Given the description of an element on the screen output the (x, y) to click on. 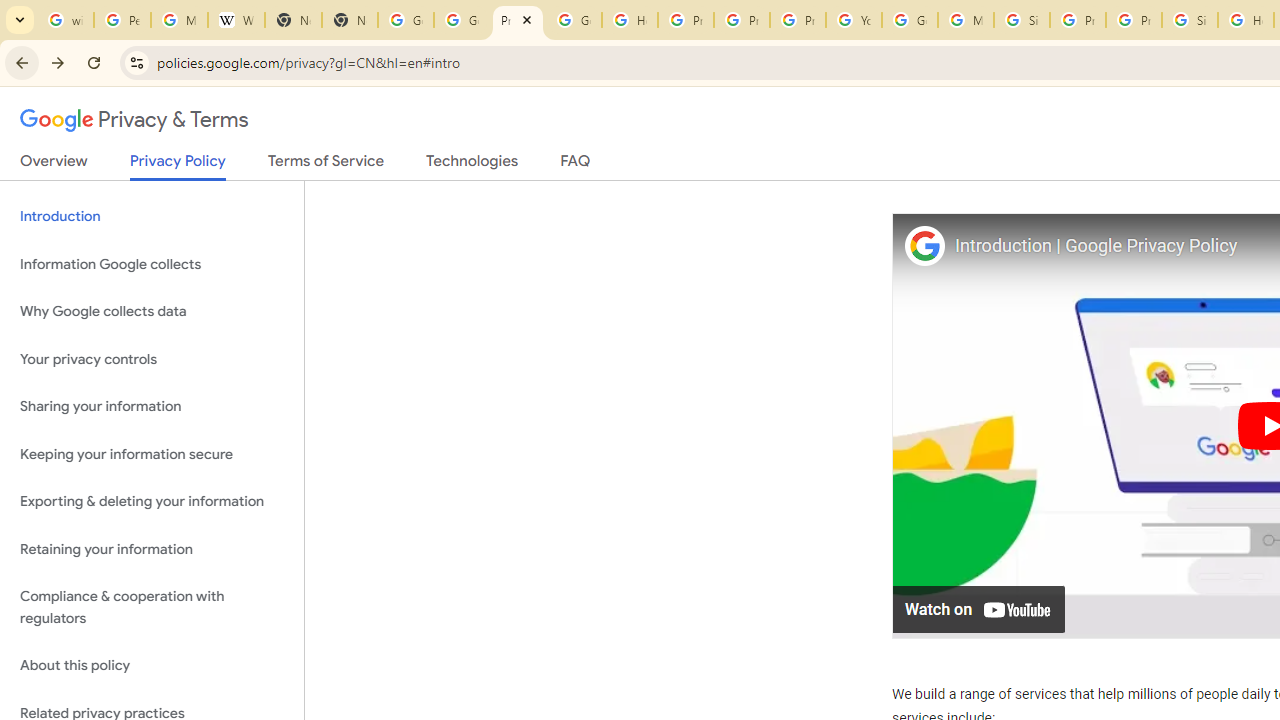
Wikipedia:Edit requests - Wikipedia (235, 20)
Overview (54, 165)
Sharing your information (152, 407)
Watch on YouTube (979, 608)
Introduction (152, 216)
Retaining your information (152, 548)
Your privacy controls (152, 358)
Personalization & Google Search results - Google Search Help (122, 20)
Manage your Location History - Google Search Help (179, 20)
YouTube (853, 20)
